Given the description of an element on the screen output the (x, y) to click on. 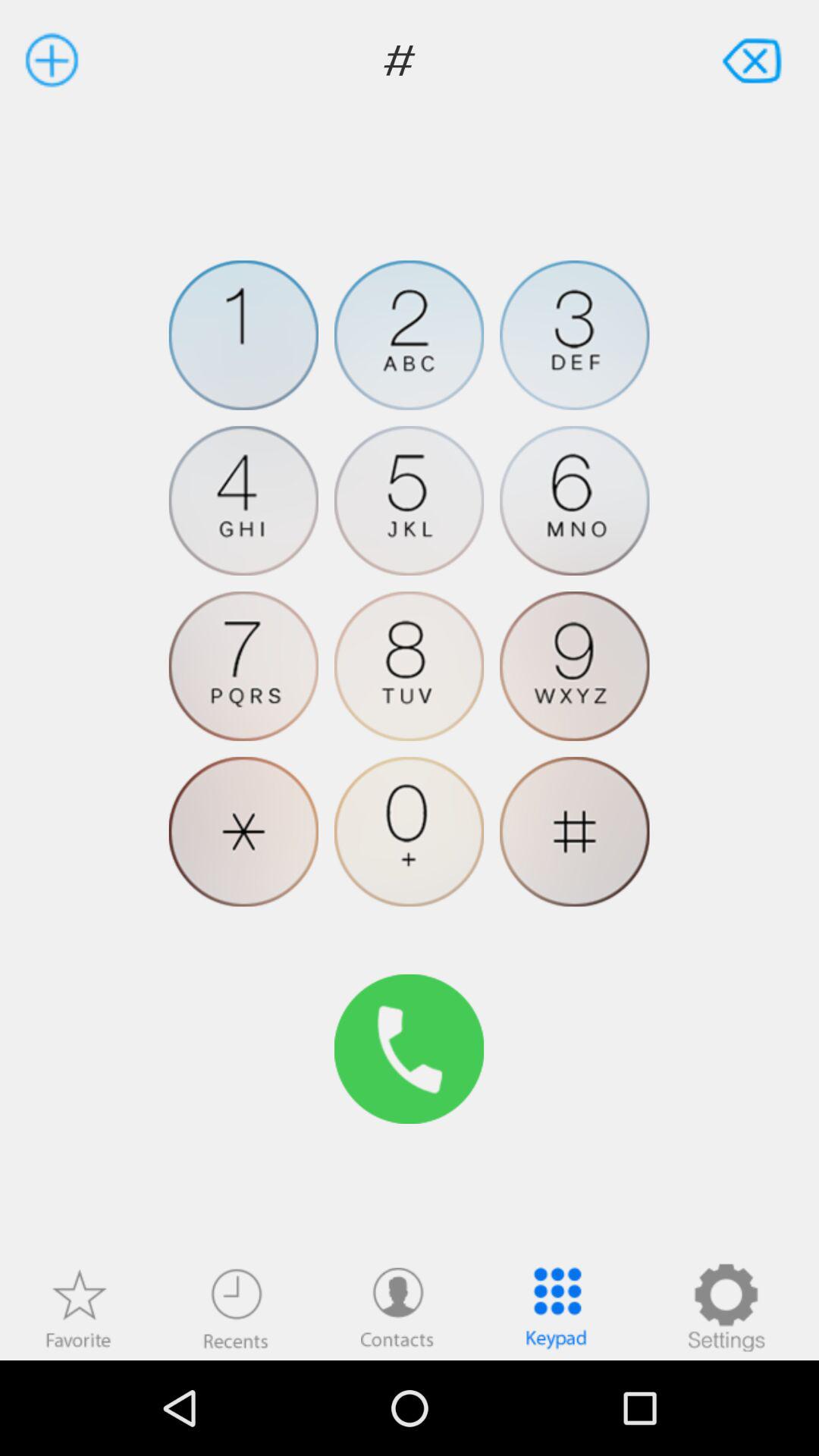
3 (574, 335)
